Given the description of an element on the screen output the (x, y) to click on. 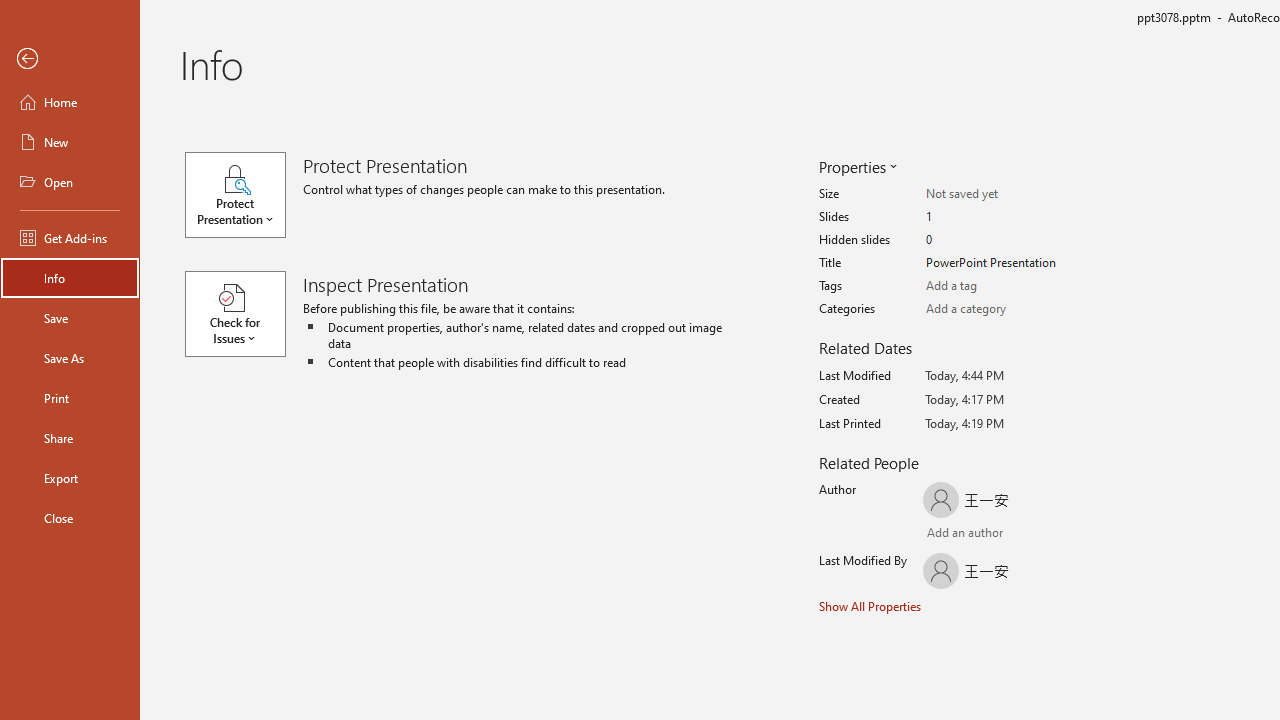
Verify Names (983, 534)
New (69, 141)
Add an author (946, 534)
Hidden slides (1003, 240)
Check for Issues (244, 313)
Save As (69, 357)
Back (69, 59)
Title (1003, 263)
Slides (1003, 217)
Print (69, 398)
